Given the description of an element on the screen output the (x, y) to click on. 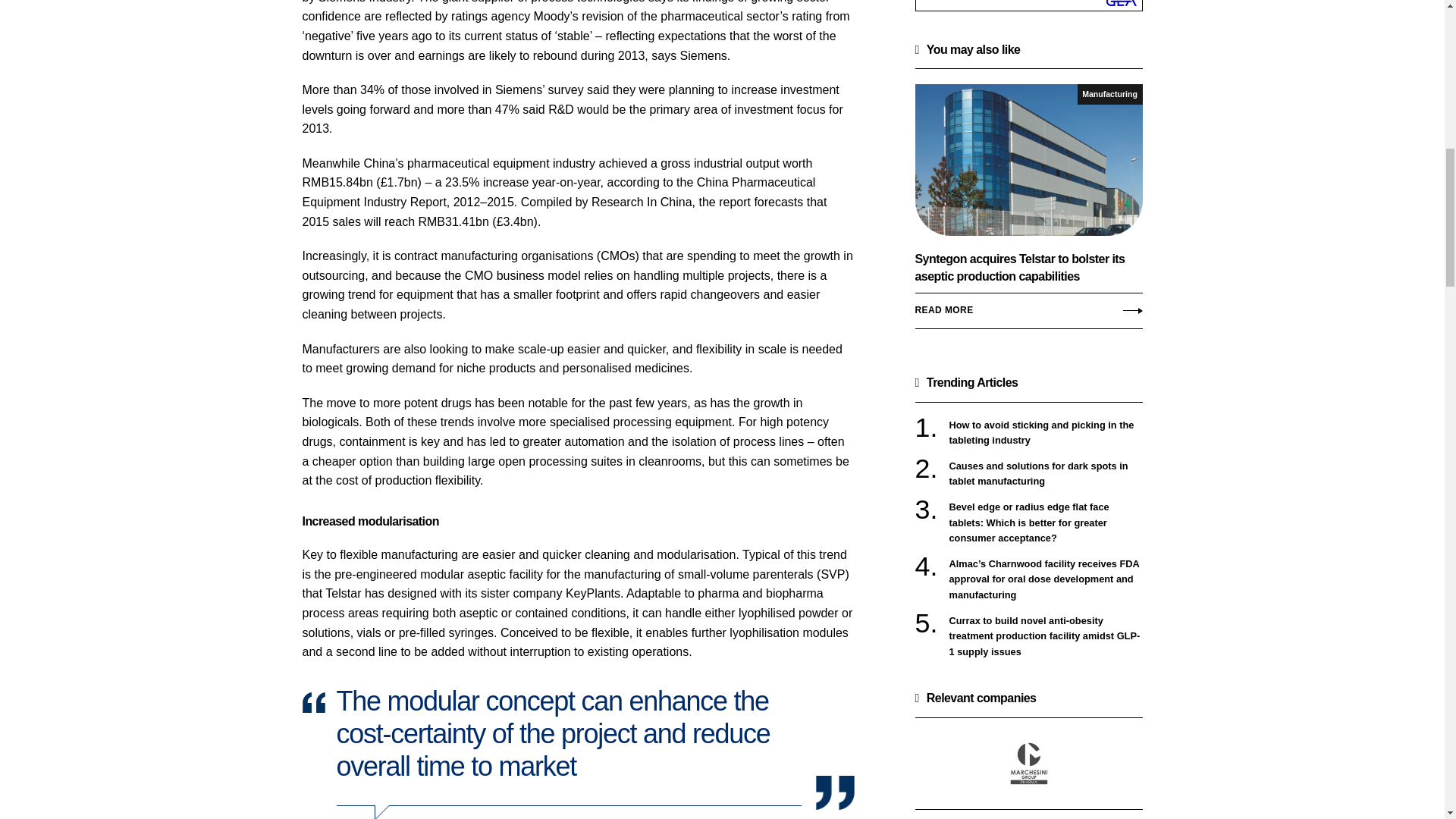
SEE MORE (1027, 810)
Marchesini Group (1028, 763)
Manufacturing (1109, 94)
How to avoid sticking and picking in the tableting industry (1045, 432)
Causes and solutions for dark spots in tablet manufacturing (1045, 473)
